Given the description of an element on the screen output the (x, y) to click on. 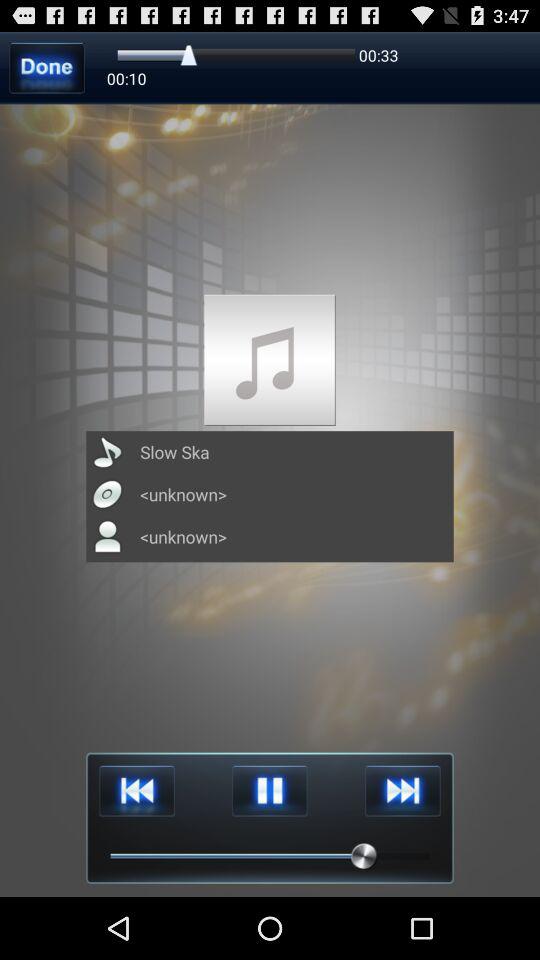
pause button (269, 790)
